Given the description of an element on the screen output the (x, y) to click on. 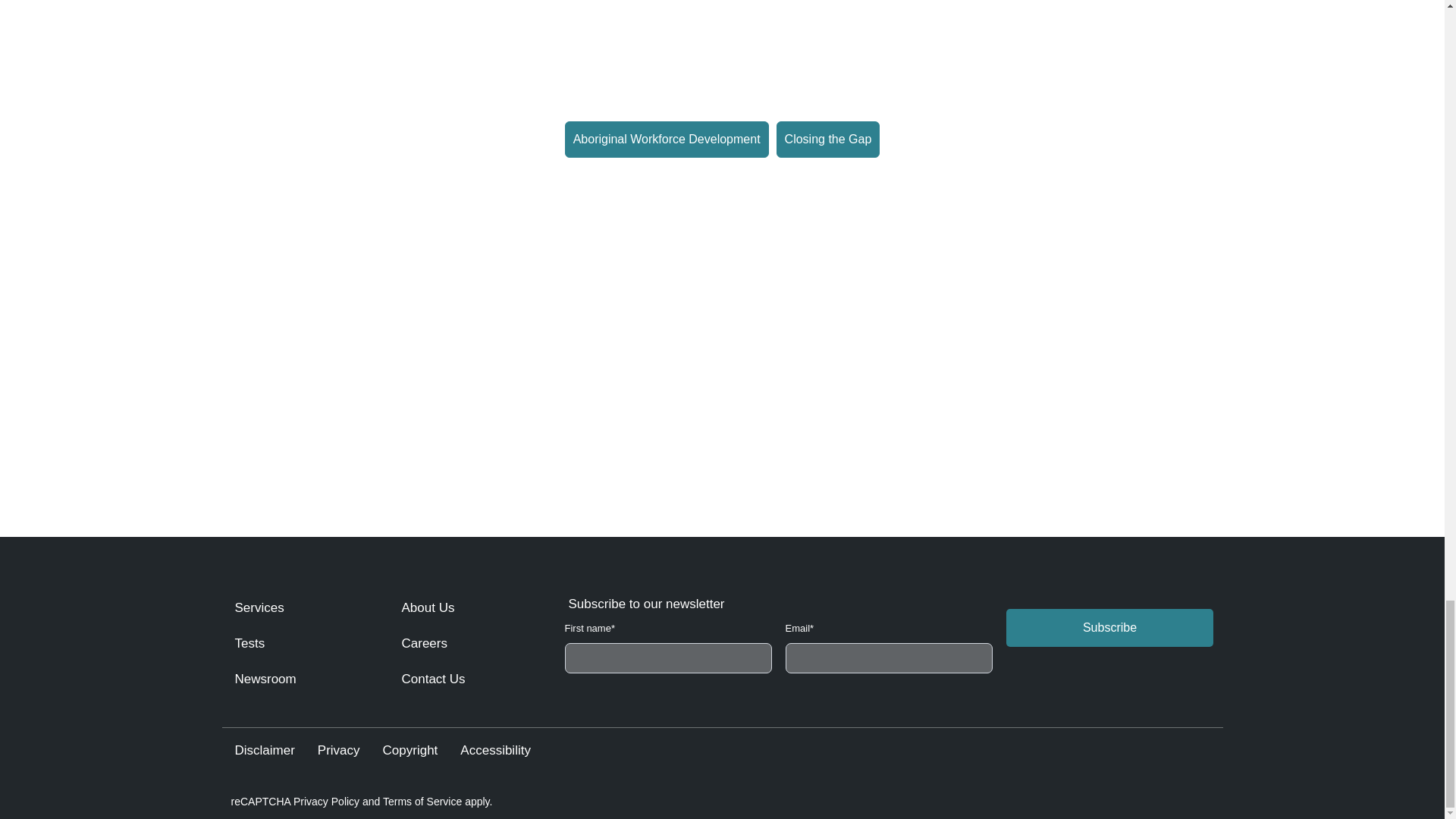
Subscribe (1110, 628)
